Given the description of an element on the screen output the (x, y) to click on. 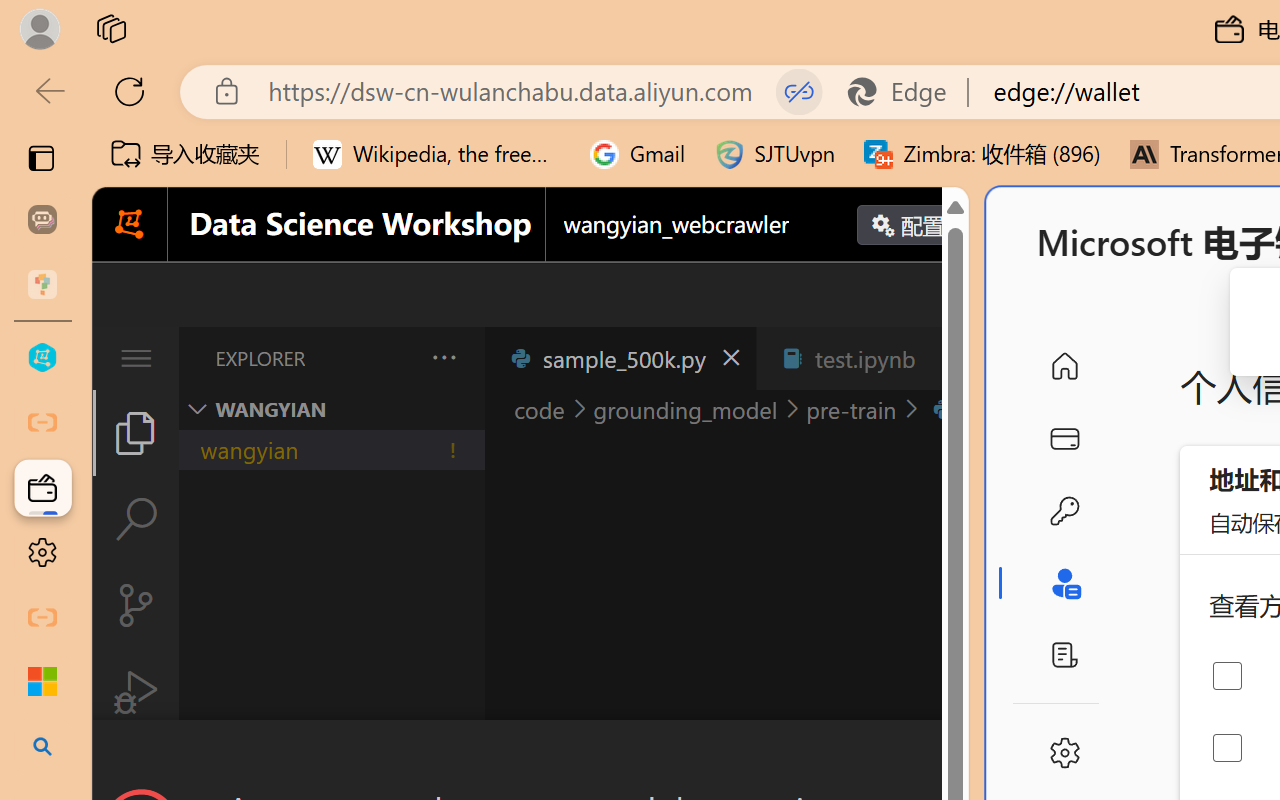
Wikipedia, the free encyclopedia (437, 154)
Run and Debug (Ctrl+Shift+D) (135, 692)
Close Dialog (959, 756)
Class: menubar compact overflow-menu-only (135, 358)
Gmail (637, 154)
test.ipynb (864, 358)
Tab actions (945, 358)
